Given the description of an element on the screen output the (x, y) to click on. 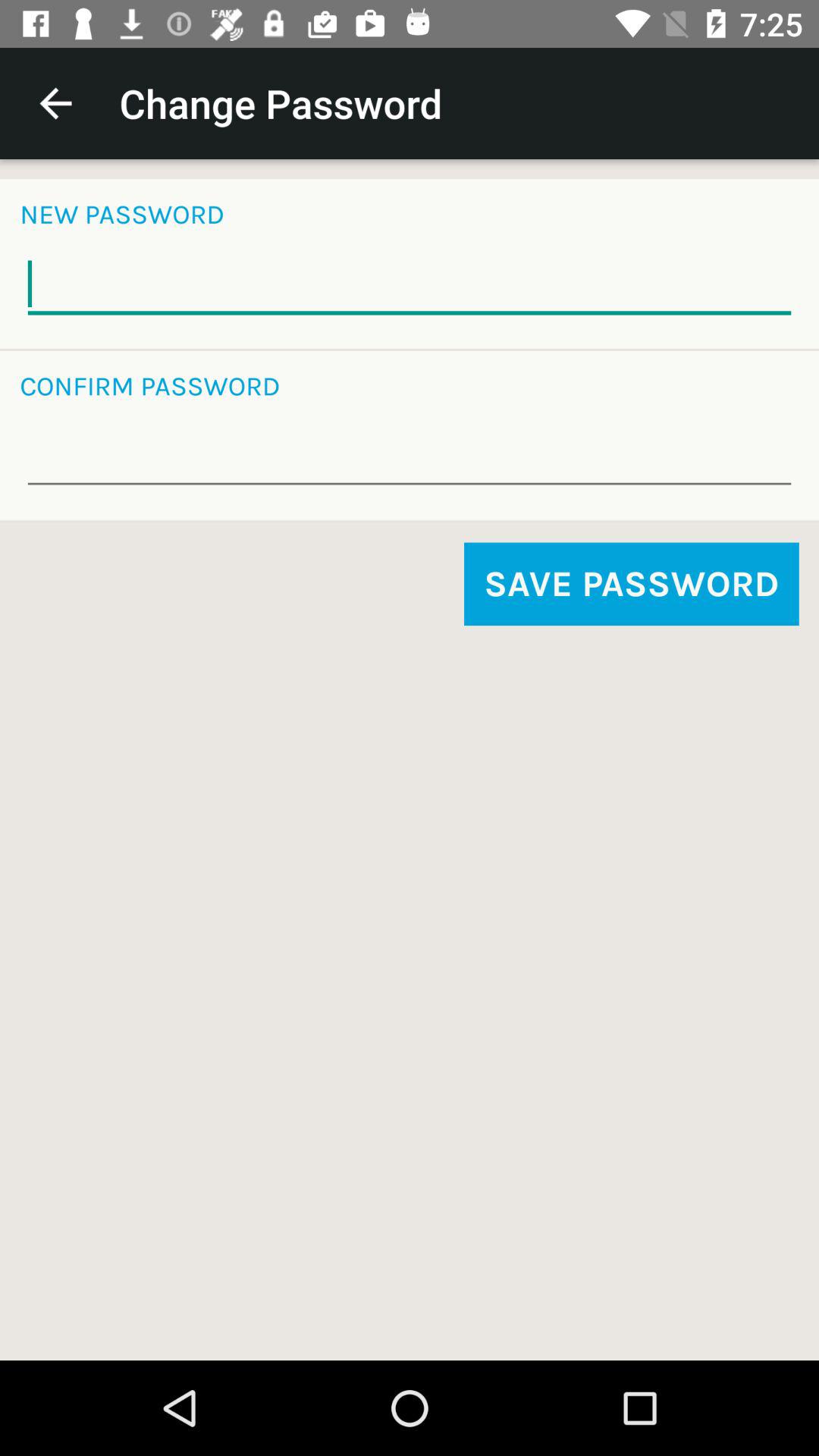
scroll to the save password icon (631, 583)
